Given the description of an element on the screen output the (x, y) to click on. 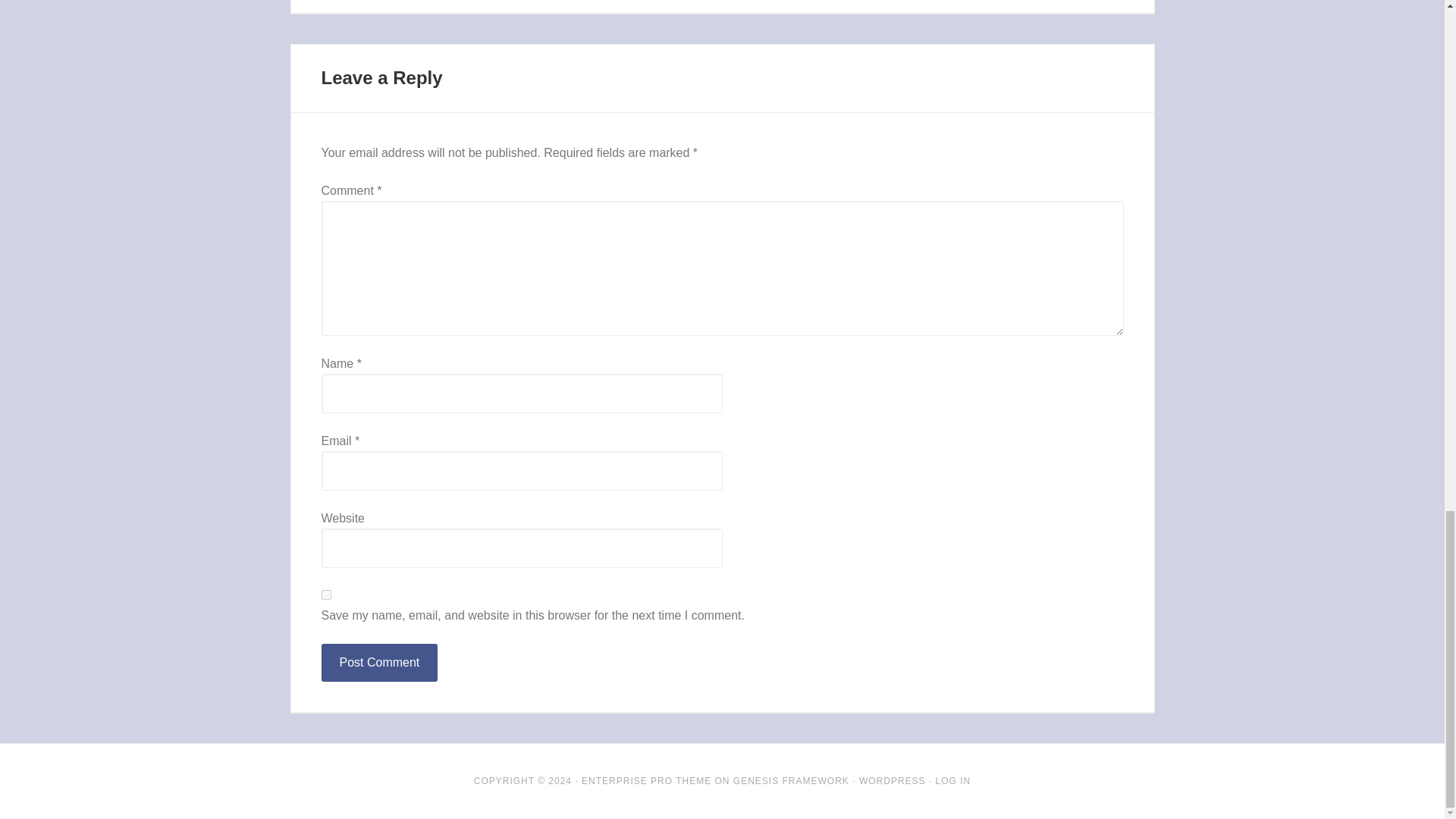
LOG IN (953, 780)
yes (326, 594)
Post Comment (379, 662)
ENTERPRISE PRO THEME (645, 780)
WORDPRESS (892, 780)
GENESIS FRAMEWORK (790, 780)
Post Comment (379, 662)
